Given the description of an element on the screen output the (x, y) to click on. 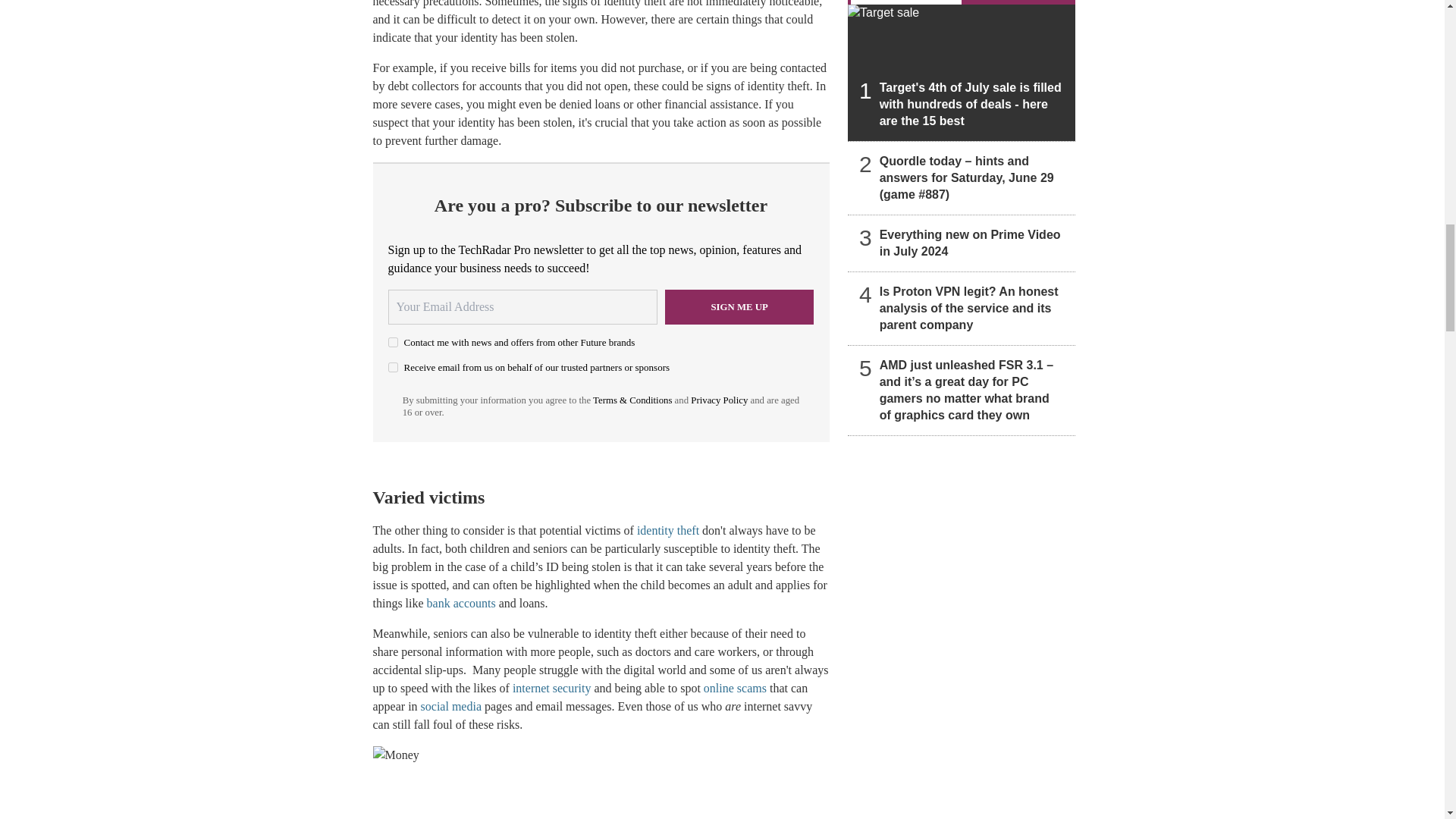
on (392, 342)
on (392, 367)
Sign me up (739, 306)
